Given the description of an element on the screen output the (x, y) to click on. 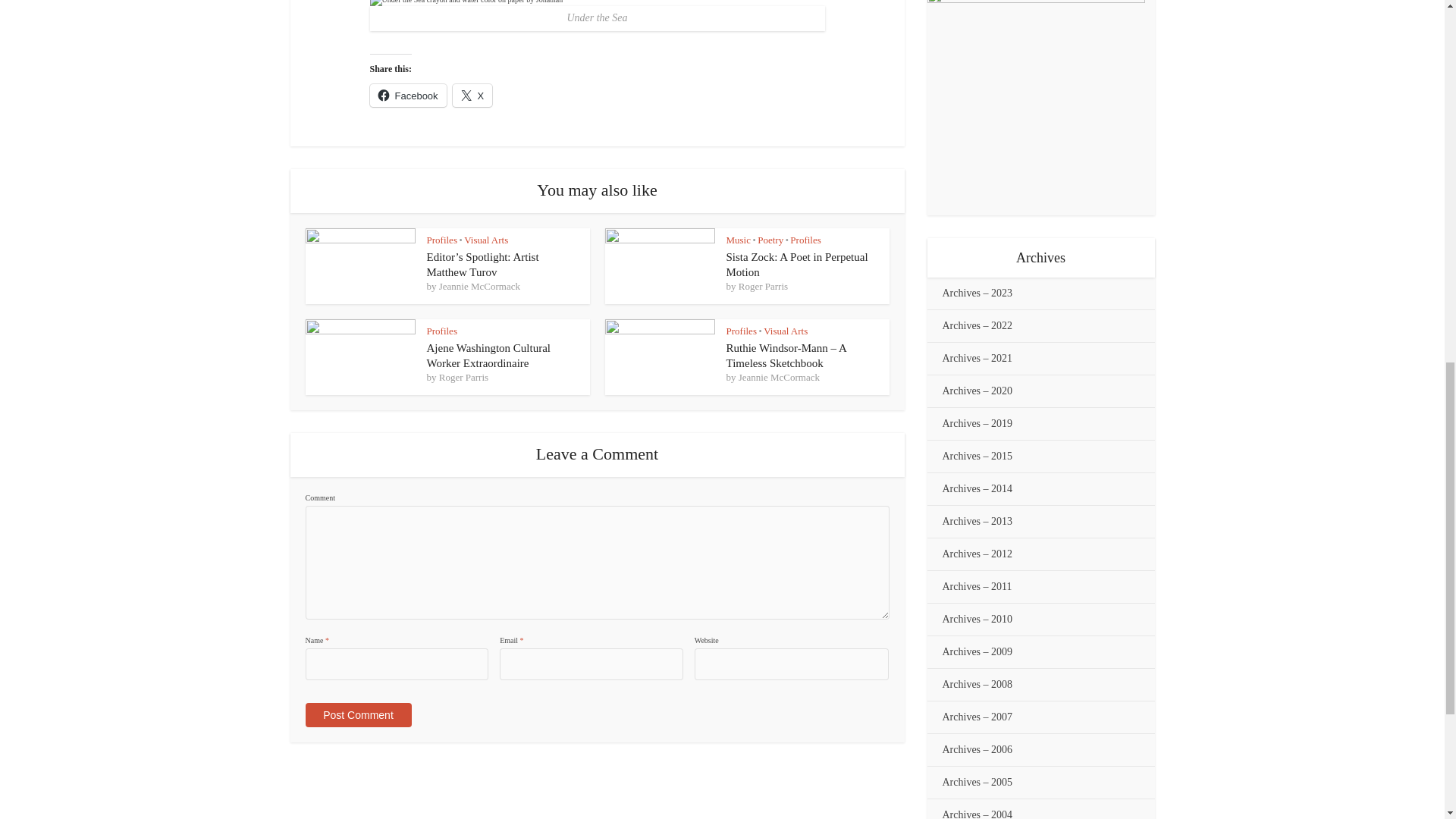
Sista Zock: A Poet in Perpetual Motion (796, 264)
Post Comment (357, 714)
Ajene Washington Cultural Worker Extraordinaire (488, 355)
Click to share on X (472, 95)
Click to share on Facebook (407, 95)
